Given the description of an element on the screen output the (x, y) to click on. 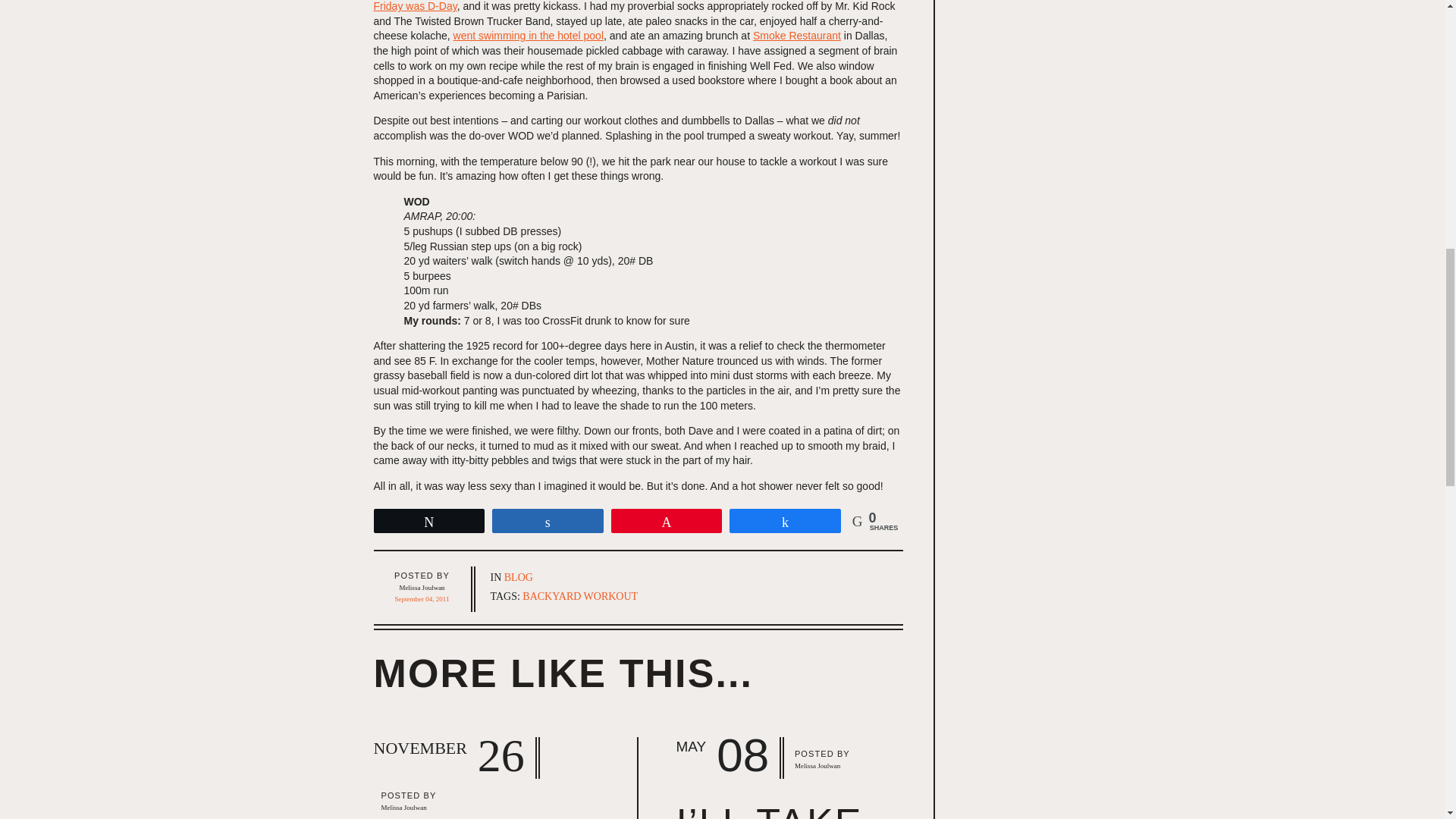
went swimming in the hotel pool (528, 35)
Friday was D-Day (414, 6)
Smoke Restaurant (796, 35)
